Given the description of an element on the screen output the (x, y) to click on. 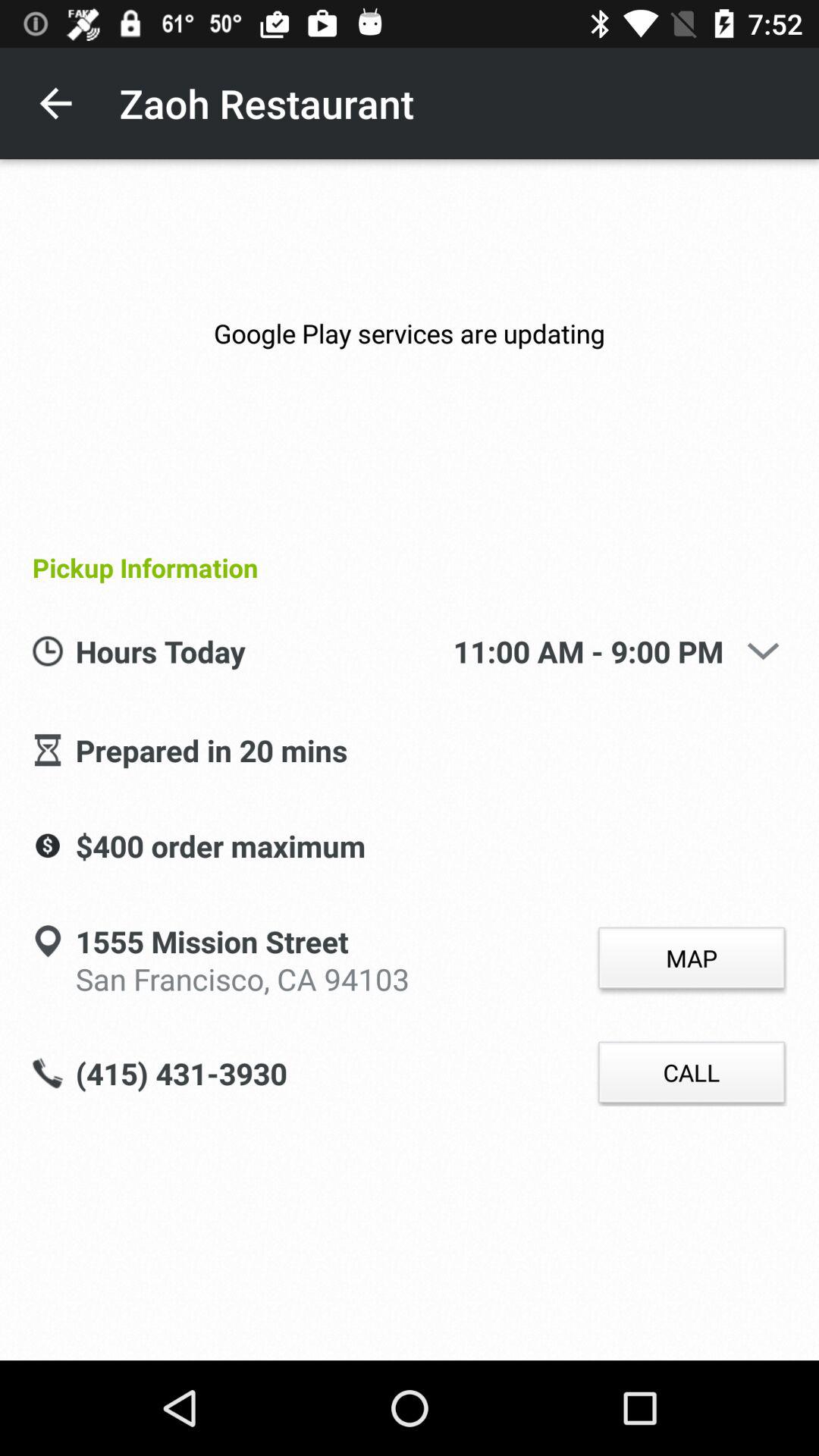
open icon above the prepared in 20 (264, 652)
